Given the description of an element on the screen output the (x, y) to click on. 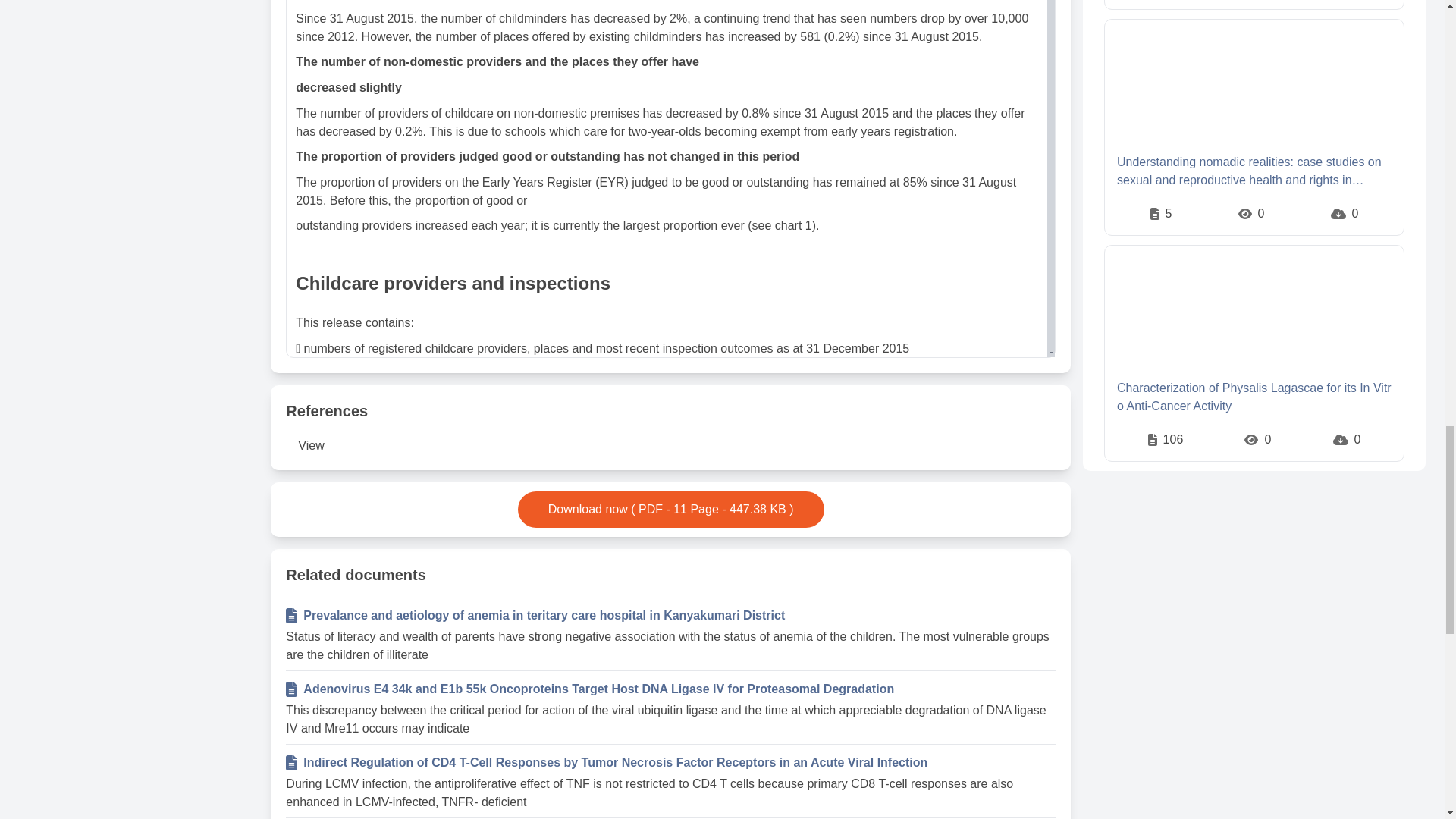
View (310, 445)
